Given the description of an element on the screen output the (x, y) to click on. 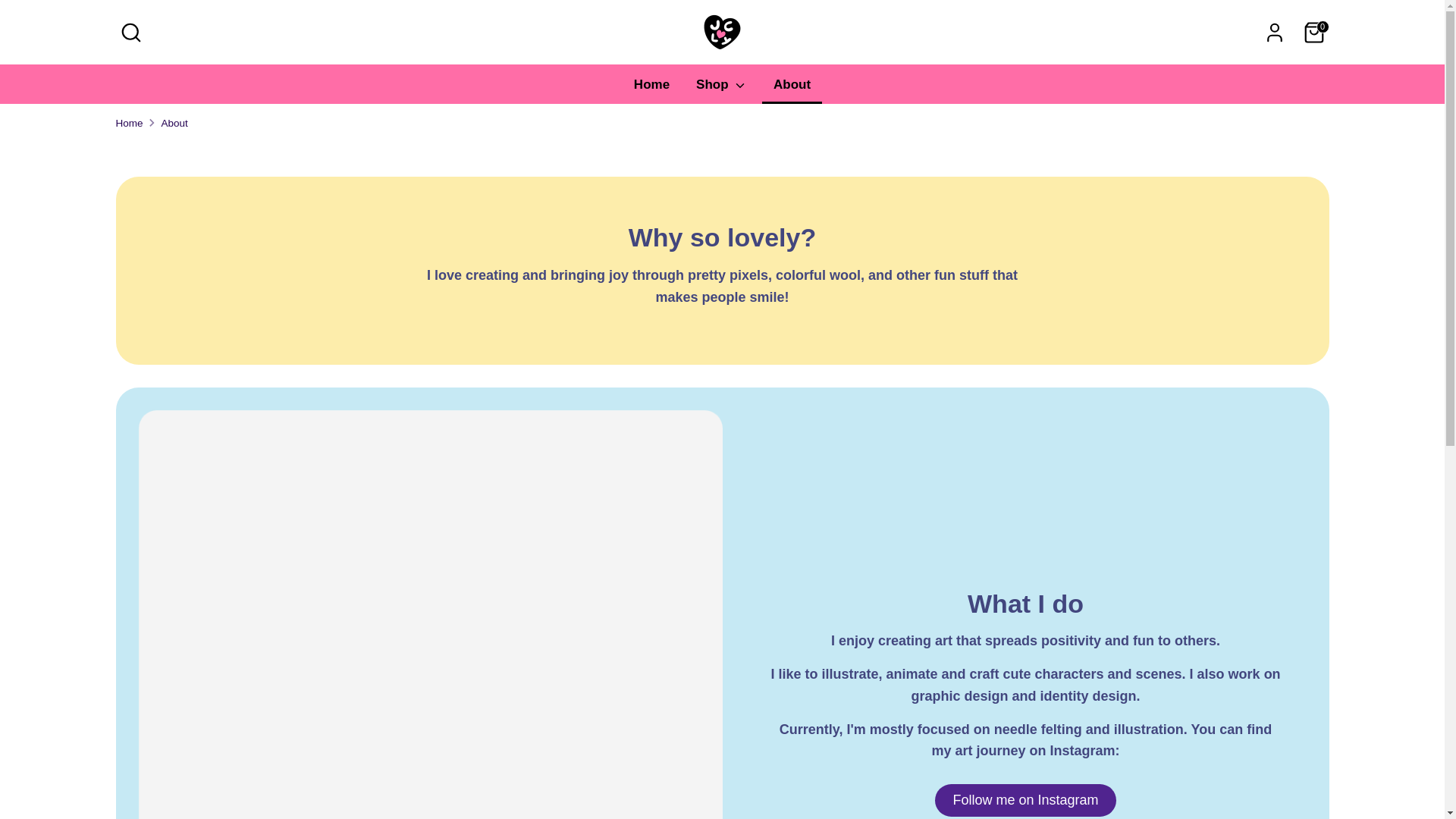
Search (130, 31)
0 (1312, 31)
About (791, 89)
Shop (721, 89)
Home (652, 89)
